Given the description of an element on the screen output the (x, y) to click on. 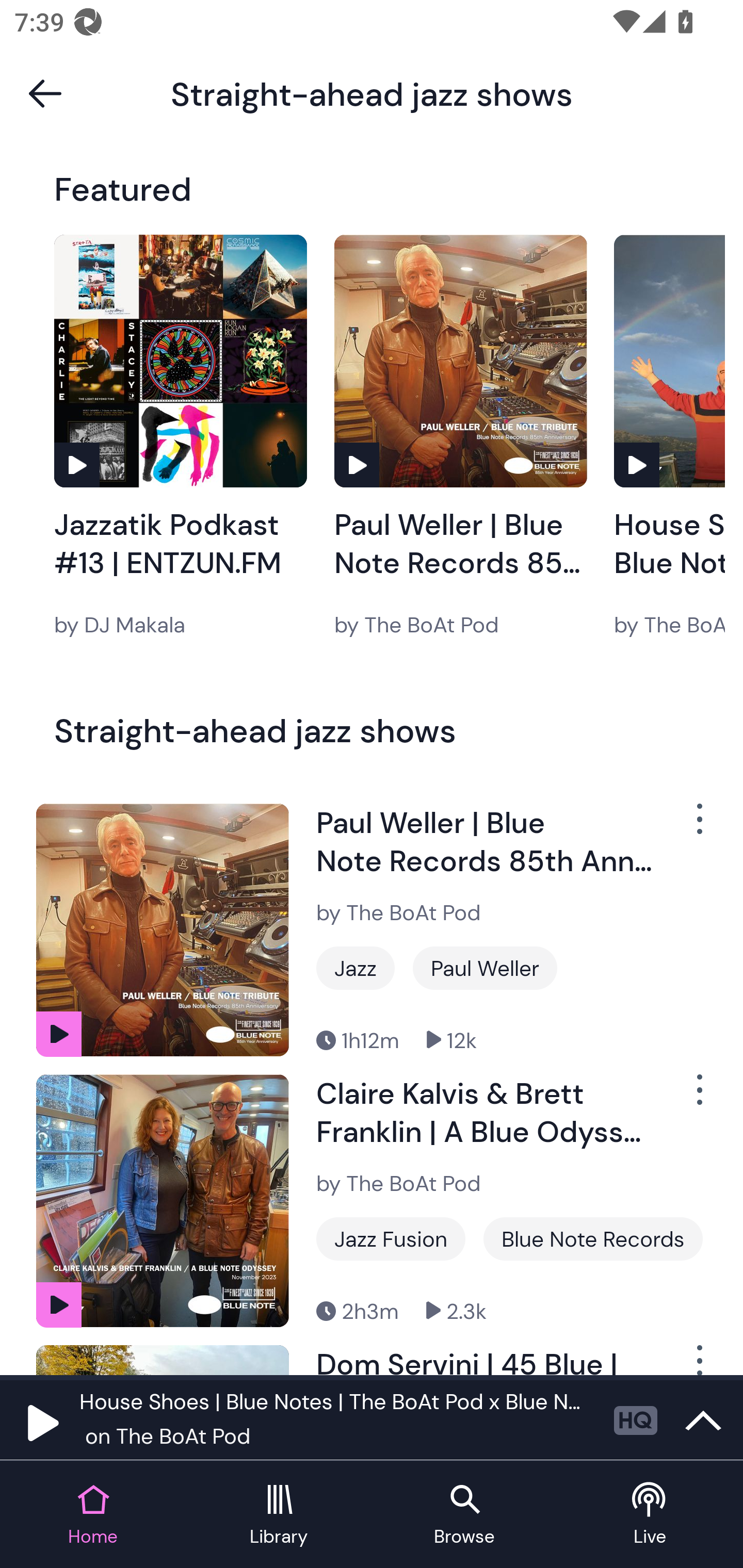
Show Options Menu Button (697, 825)
Jazz (355, 968)
Paul Weller (485, 968)
Show Options Menu Button (697, 1097)
Jazz Fusion (390, 1238)
Blue Note Records (592, 1238)
Show Options Menu Button (697, 1360)
Home tab Home (92, 1515)
Library tab Library (278, 1515)
Browse tab Browse (464, 1515)
Live tab Live (650, 1515)
